Given the description of an element on the screen output the (x, y) to click on. 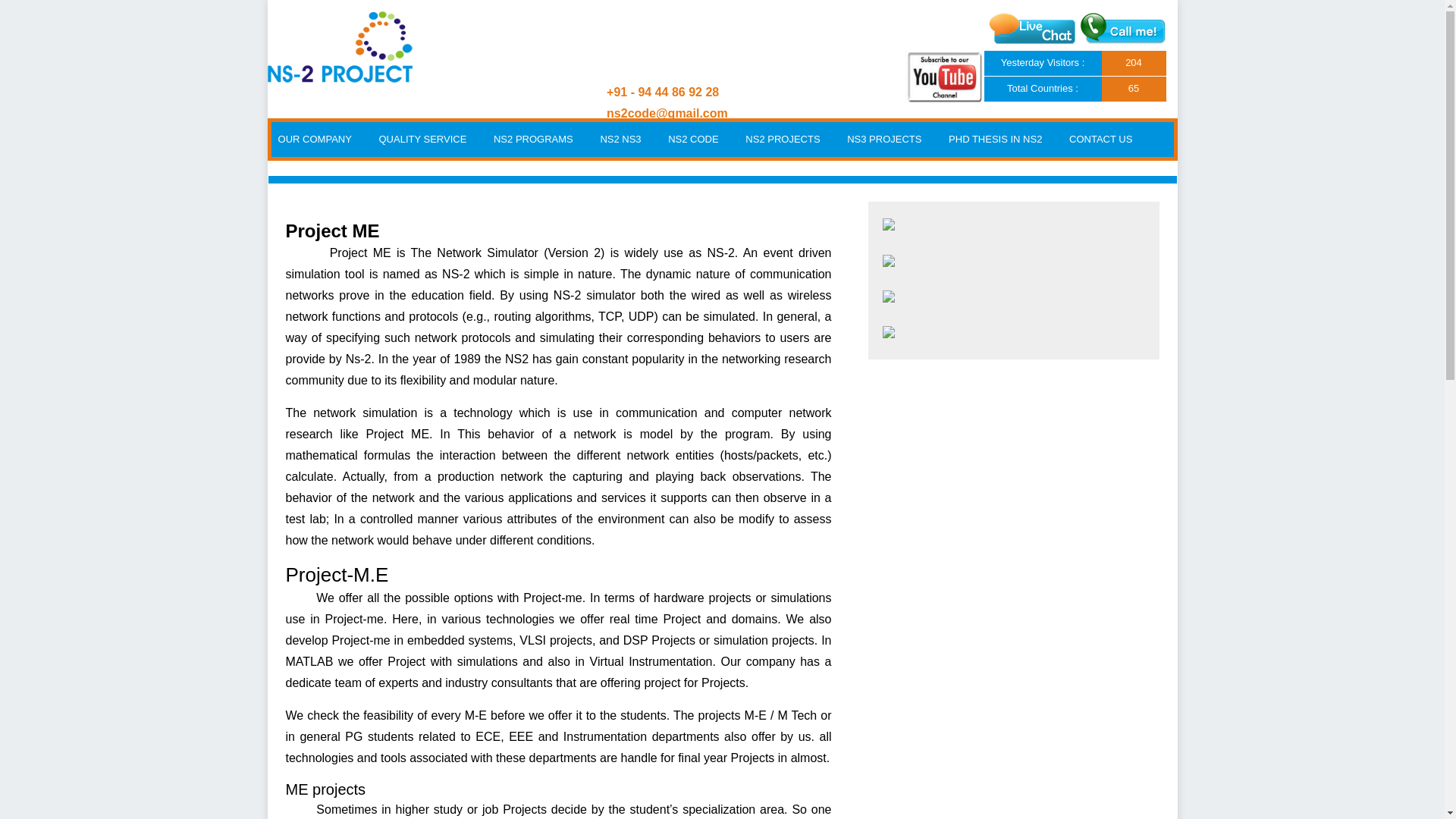
NS2 PROGRAMS (533, 139)
OUR COMPANY (315, 139)
QUALITY SERVICE (422, 139)
NS2 NS3 (619, 139)
NS2 Project (339, 78)
Skip to content (306, 128)
Skip to content (306, 128)
NS2 PROJECTS (782, 139)
NS2 CODE (692, 139)
